Given the description of an element on the screen output the (x, y) to click on. 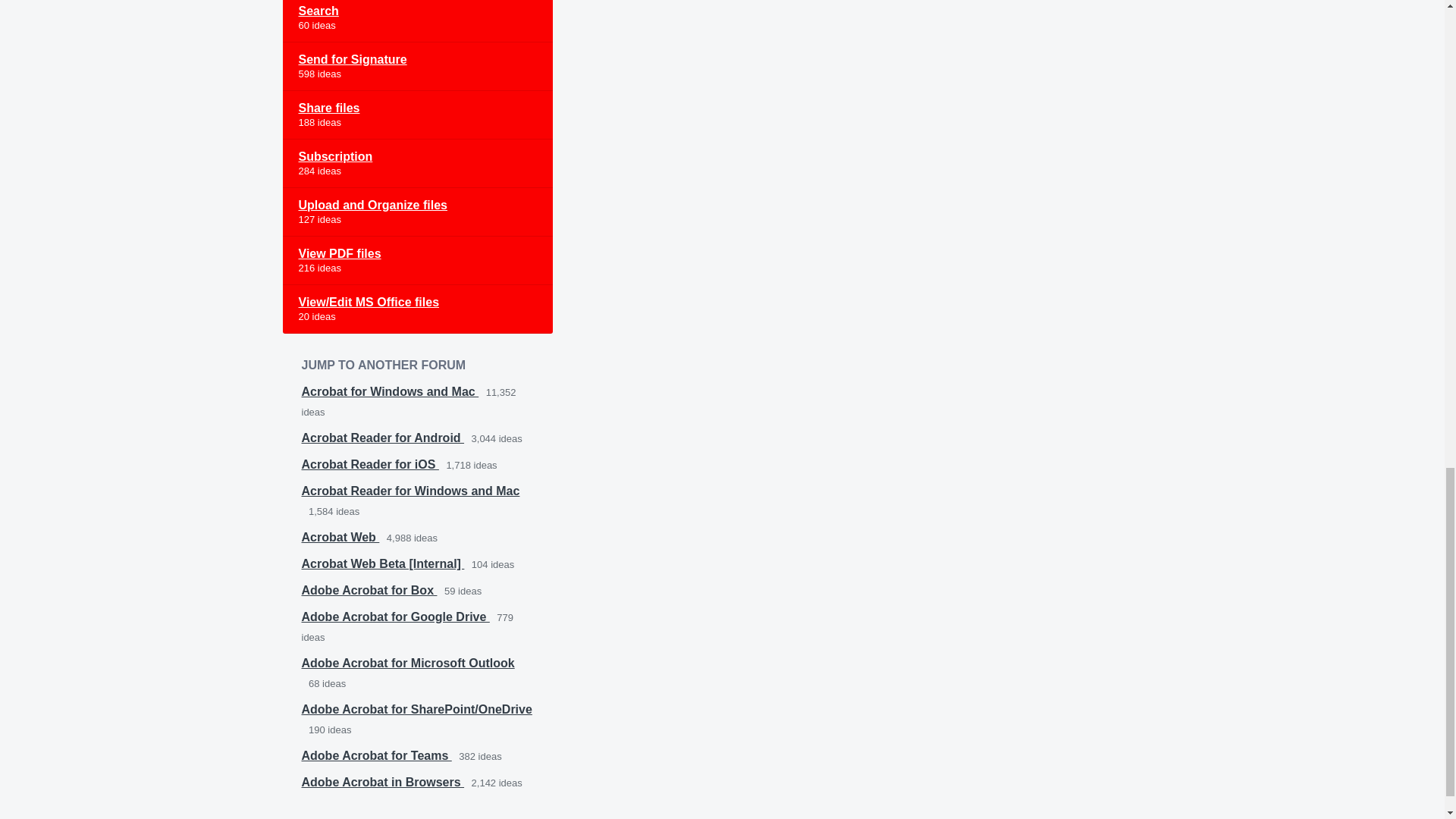
View all ideas in category Send for Signature (417, 66)
Acrobat for Windows and Mac (390, 391)
Subscription (417, 163)
Search (417, 21)
Acrobat Reader for Android (382, 437)
View PDF files (417, 260)
Share files (417, 114)
Acrobat Reader for Windows and Mac (410, 490)
View all ideas in category Search (417, 21)
Acrobat Reader for iOS (370, 463)
